Given the description of an element on the screen output the (x, y) to click on. 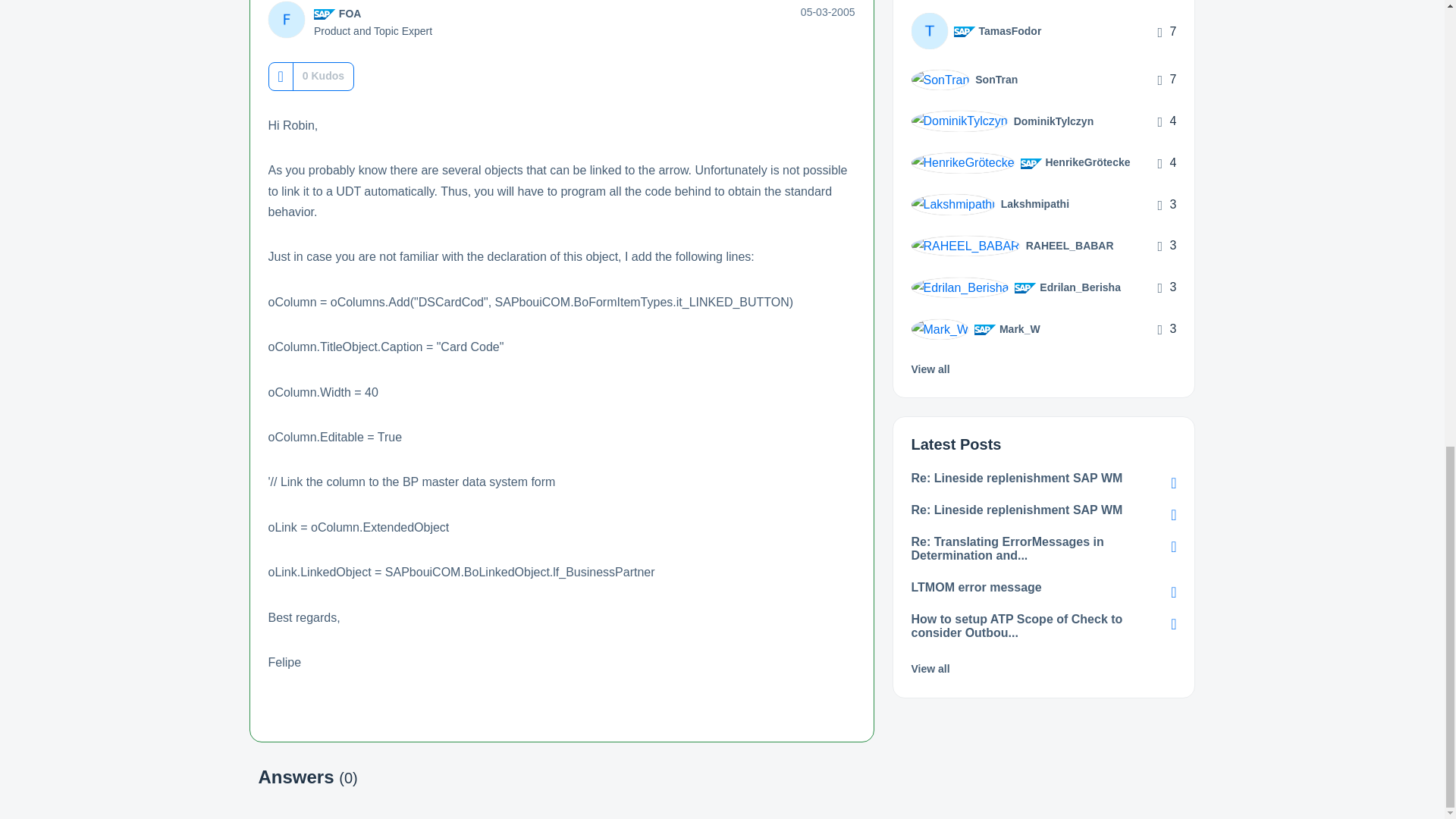
FOA (350, 13)
FOA (285, 19)
Product and Topic Expert (325, 14)
